Given the description of an element on the screen output the (x, y) to click on. 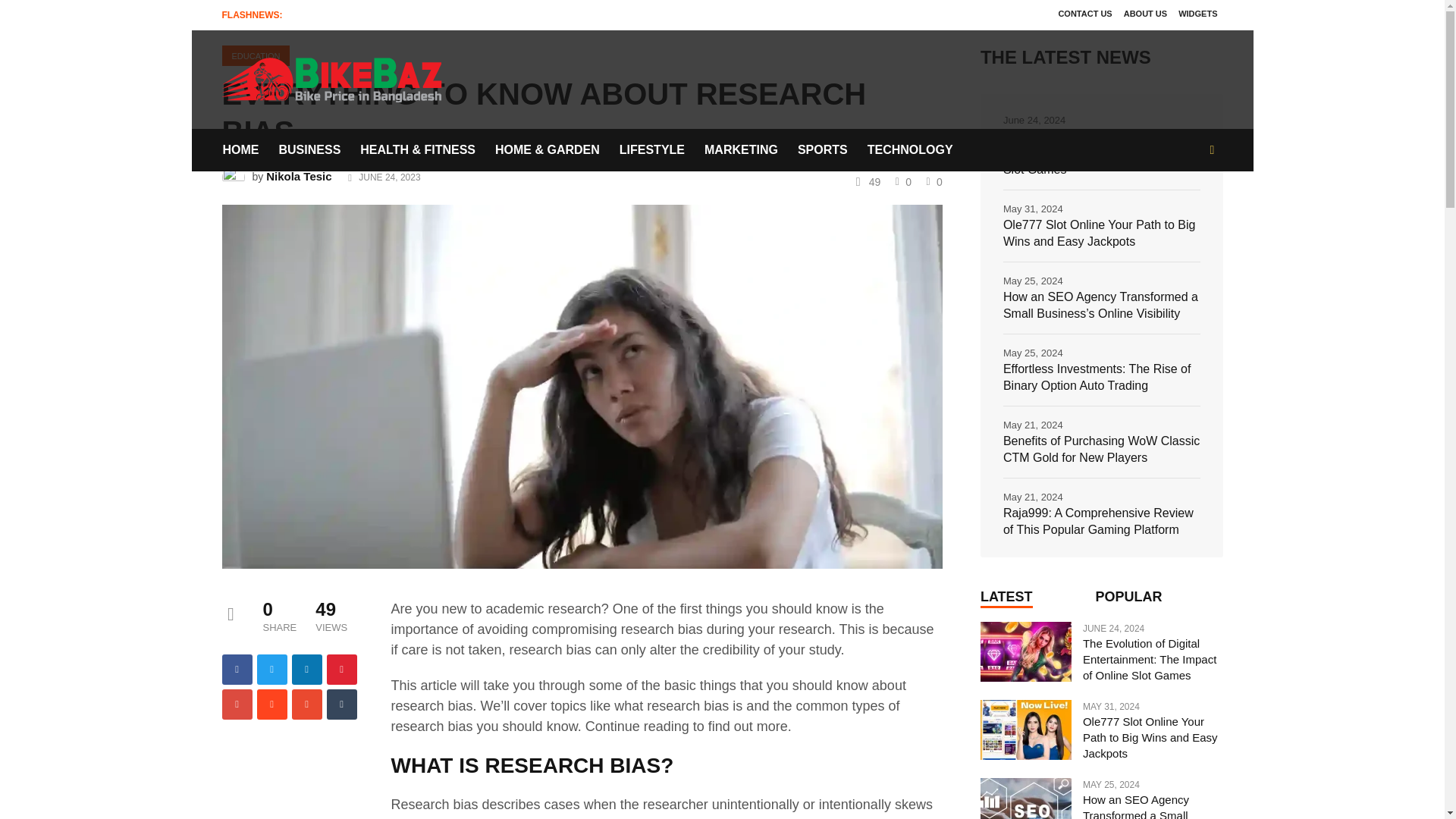
0 (932, 181)
0 (901, 181)
HOME (244, 149)
TECHNOLOGY (909, 149)
ABOUT US (1145, 14)
SPORTS (822, 149)
EDUCATION (255, 55)
WIDGETS (1198, 14)
BUSINESS (308, 149)
CONTACT US (1084, 14)
MARKETING (740, 149)
LIFESTYLE (652, 149)
